Given the description of an element on the screen output the (x, y) to click on. 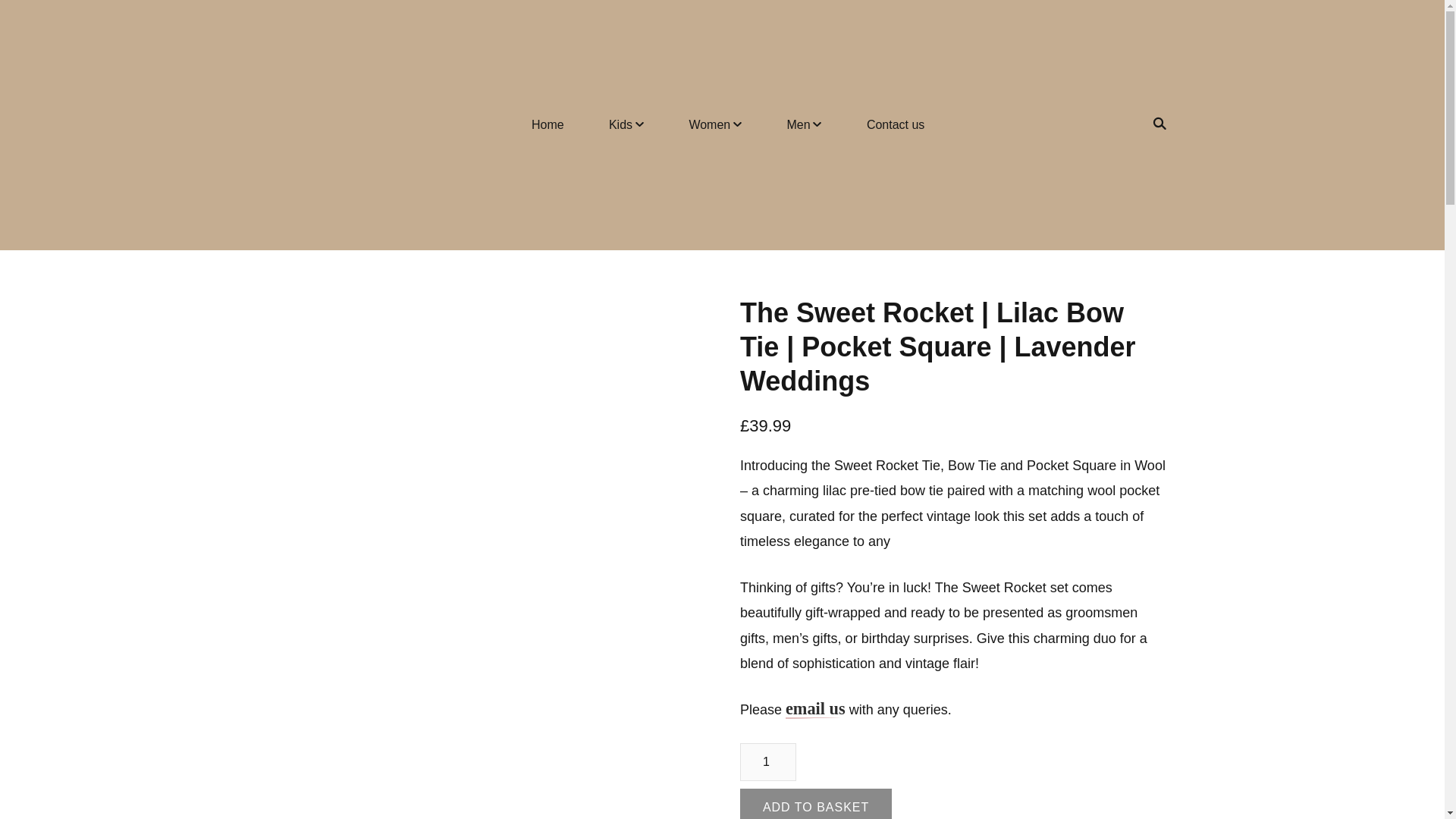
Contact us (895, 124)
Home (548, 124)
ADD TO BASKET (815, 803)
email us (815, 710)
1 (767, 761)
View your shopping cart (1131, 124)
Men (803, 124)
Women (715, 124)
Kids (625, 124)
